Given the description of an element on the screen output the (x, y) to click on. 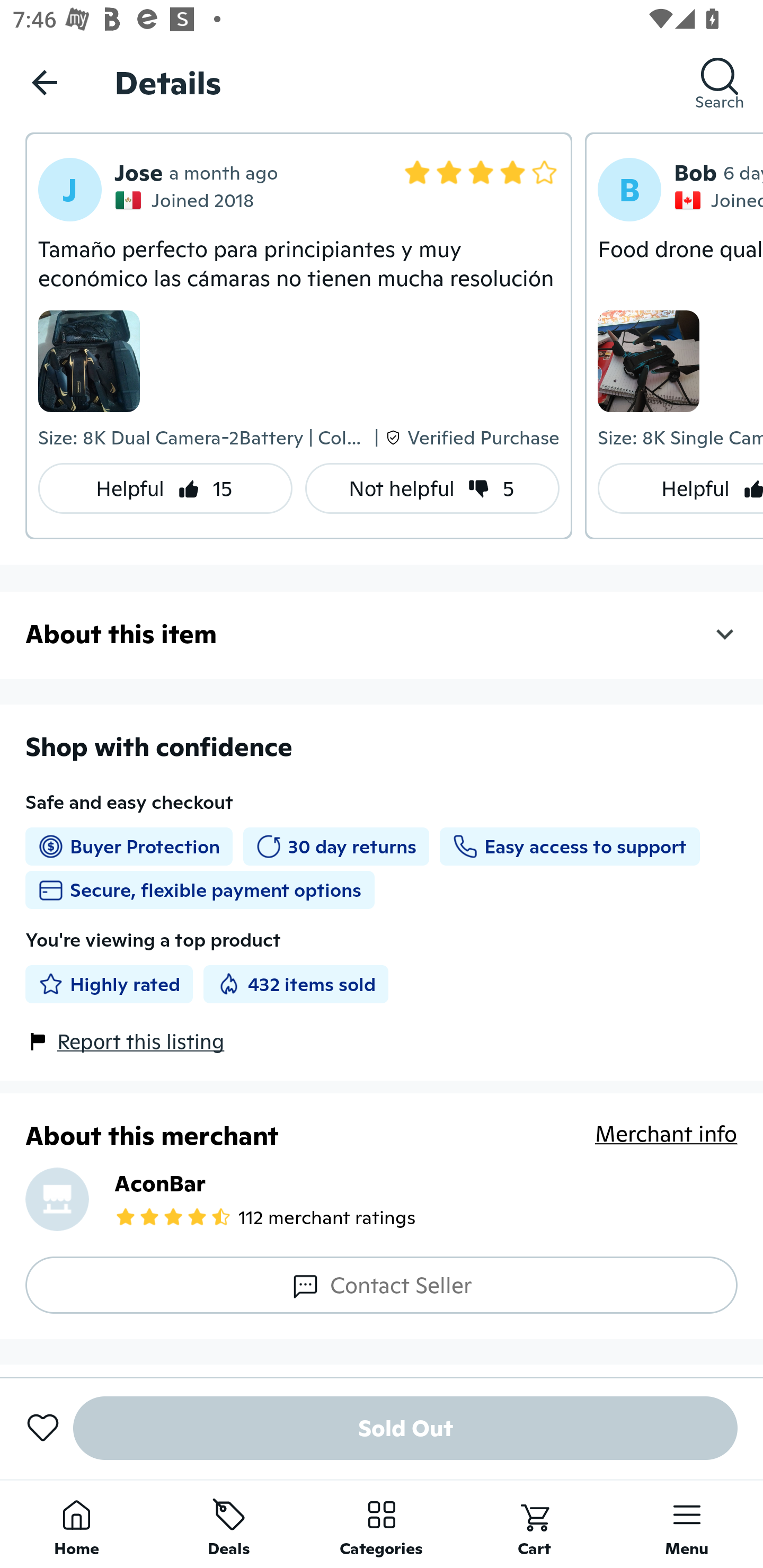
Navigate up (44, 82)
Search (719, 82)
J (69, 189)
Jose (138, 173)
B (629, 189)
Bob (695, 173)
Joined 2018  (186, 200)
Joined 2018  (718, 200)
Helpful 15 (165, 488)
Not helpful 5 (432, 488)
Helpful (680, 488)
About this item (381, 633)
Buyer Protection (128, 846)
30 day returns (335, 846)
Easy access to support (569, 846)
Secure, flexible payment options (199, 889)
Highly rated (109, 984)
432 items sold (295, 984)
Report this listing (140, 1041)
Merchant info (666, 1143)
AconBar 4.5 Star Rating 112 merchant ratings (381, 1199)
Contact Seller (381, 1284)
Sold Out (405, 1428)
Home (76, 1523)
Deals (228, 1523)
Categories (381, 1523)
Cart (533, 1523)
Menu (686, 1523)
